Given the description of an element on the screen output the (x, y) to click on. 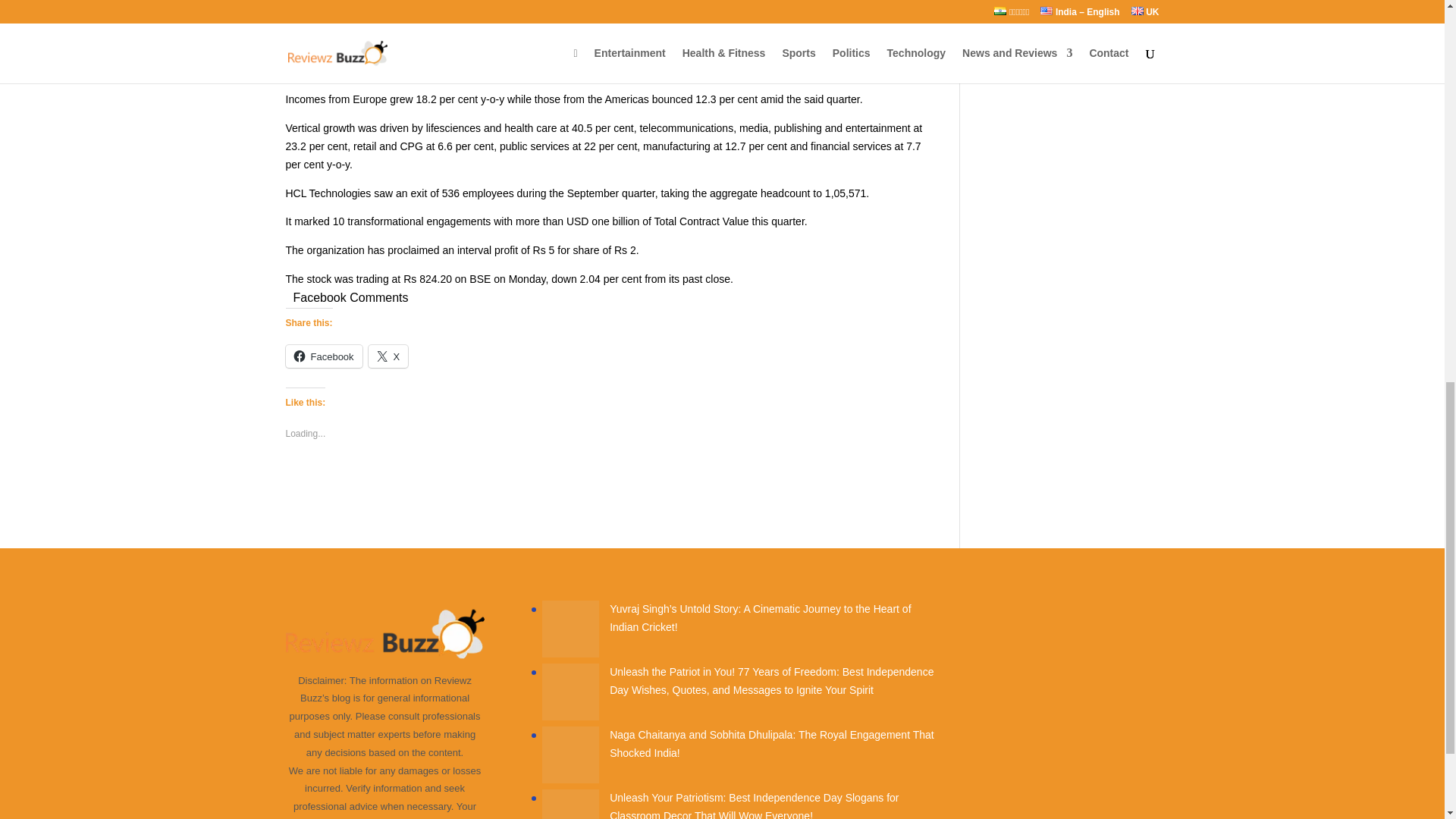
Click to share on X (388, 355)
Travel (996, 33)
Technology News (1023, 9)
Facebook (323, 355)
X (388, 355)
Click to share on Facebook (323, 355)
